Given the description of an element on the screen output the (x, y) to click on. 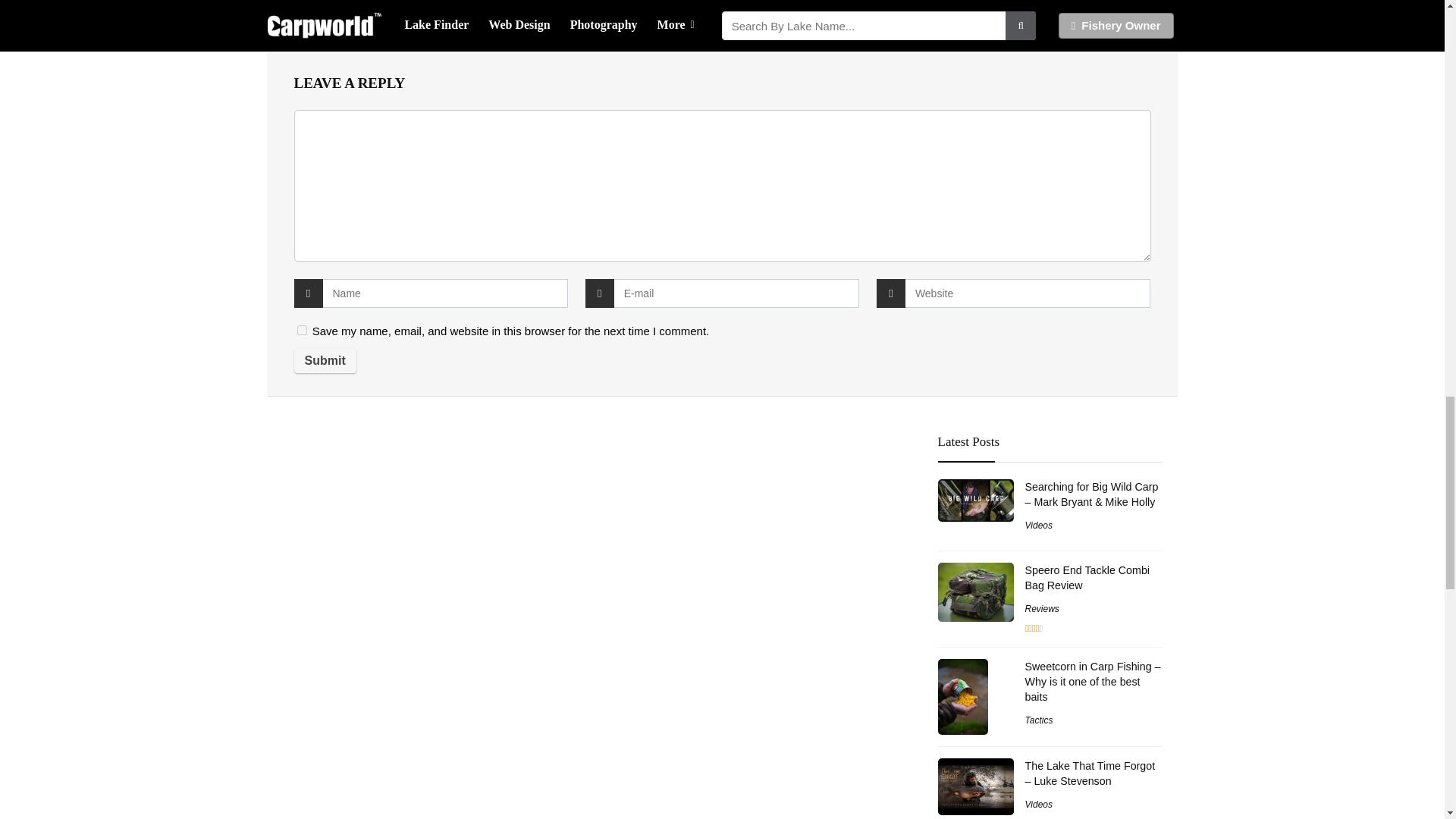
yes (302, 329)
Submit (325, 360)
